Given the description of an element on the screen output the (x, y) to click on. 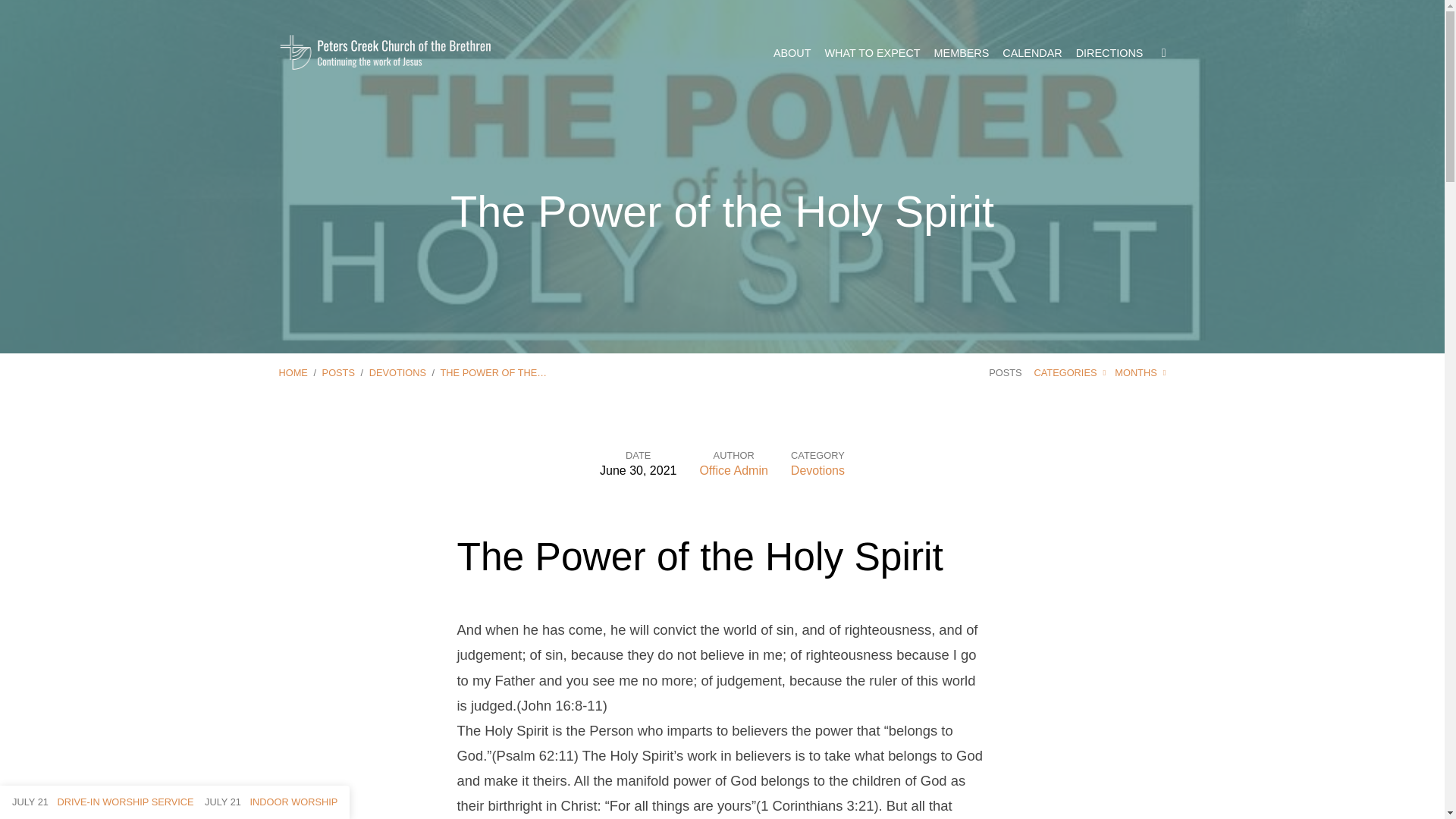
JULY 21 INDOOR WORSHIP (271, 801)
CALENDAR (1032, 52)
MONTHS (1140, 372)
JULY 21 DRIVE-IN WORSHIP SERVICE (102, 801)
HOME (293, 372)
POSTS (1005, 372)
CATEGORIES (1069, 372)
WHAT TO EXPECT (872, 52)
Drive-In Worship Service (102, 801)
ABOUT (791, 52)
MEMBERS (962, 52)
DEVOTIONS (397, 372)
Indoor Worship (271, 801)
DIRECTIONS (1108, 52)
Office Admin (732, 470)
